Given the description of an element on the screen output the (x, y) to click on. 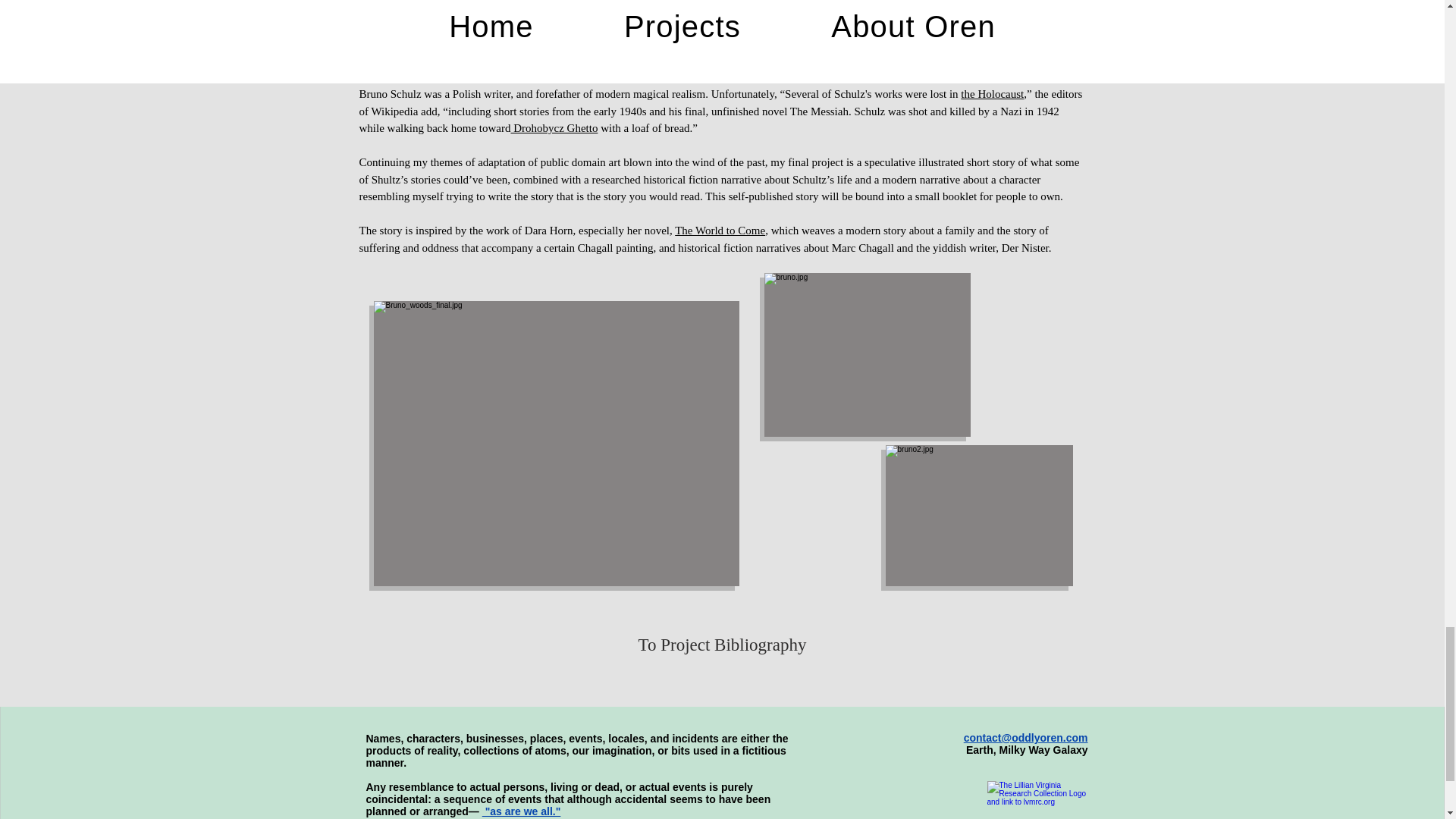
the Holocaust (991, 93)
Drohobycz Ghetto (553, 128)
The World to Come (720, 230)
"as are we all." (520, 811)
Nazi (1011, 110)
